Given the description of an element on the screen output the (x, y) to click on. 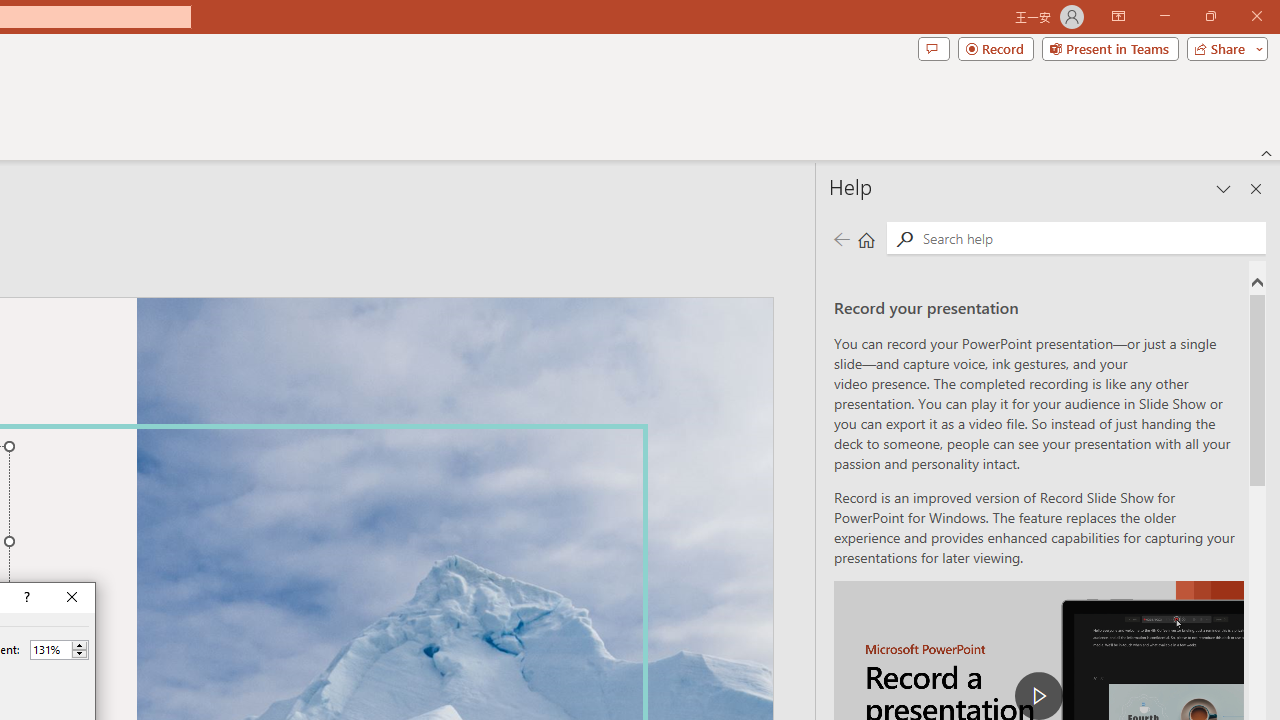
Percent (59, 650)
Previous page (841, 238)
Percent (50, 649)
play Record a Presentation (1038, 695)
